Given the description of an element on the screen output the (x, y) to click on. 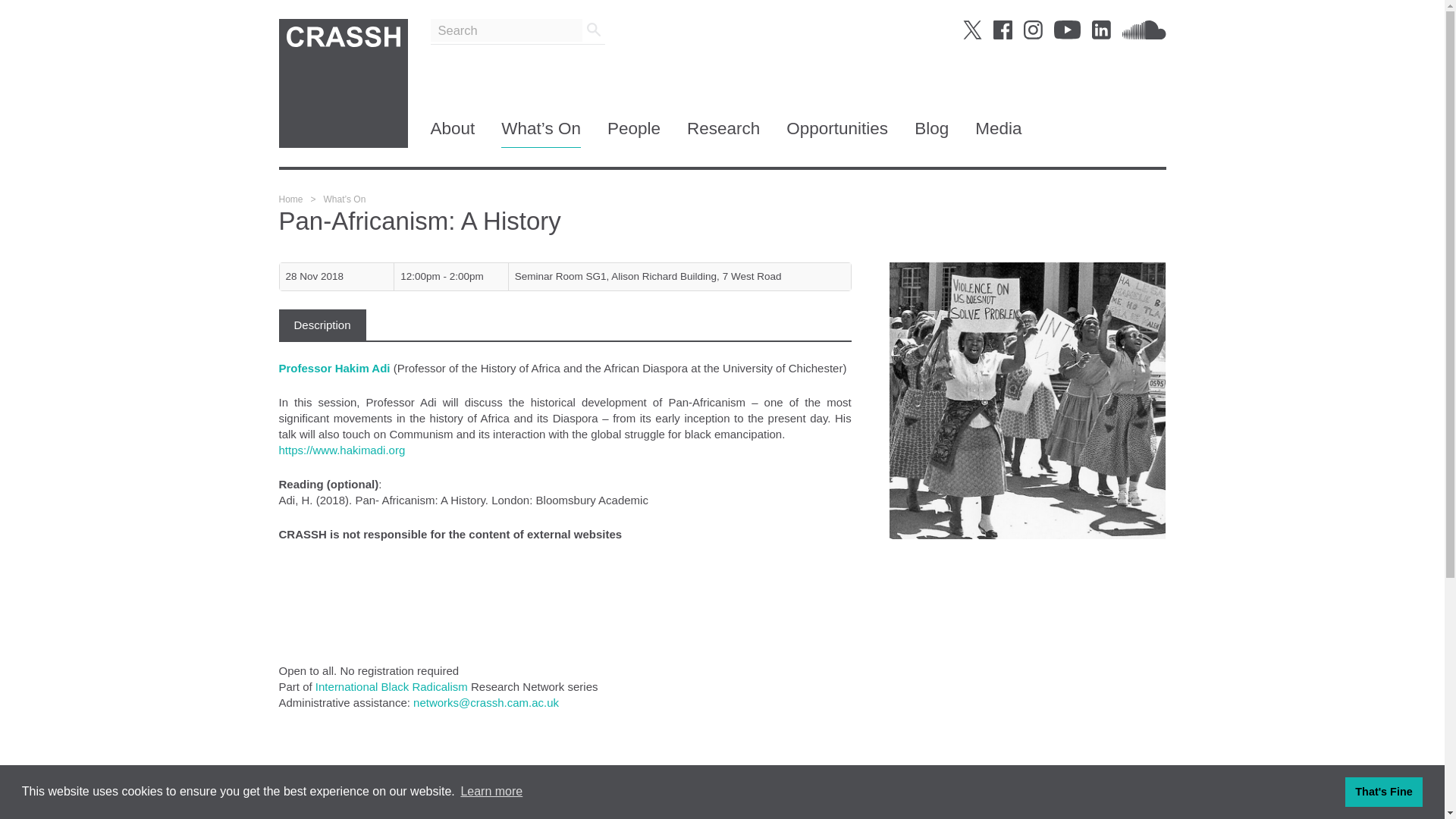
Professor Hakim Adi (336, 367)
Learn more (491, 791)
Blog (931, 132)
About (453, 132)
People (634, 132)
Media (998, 132)
Research (723, 132)
Home (290, 199)
Opportunities (837, 132)
International Black Radicalism (391, 685)
